Given the description of an element on the screen output the (x, y) to click on. 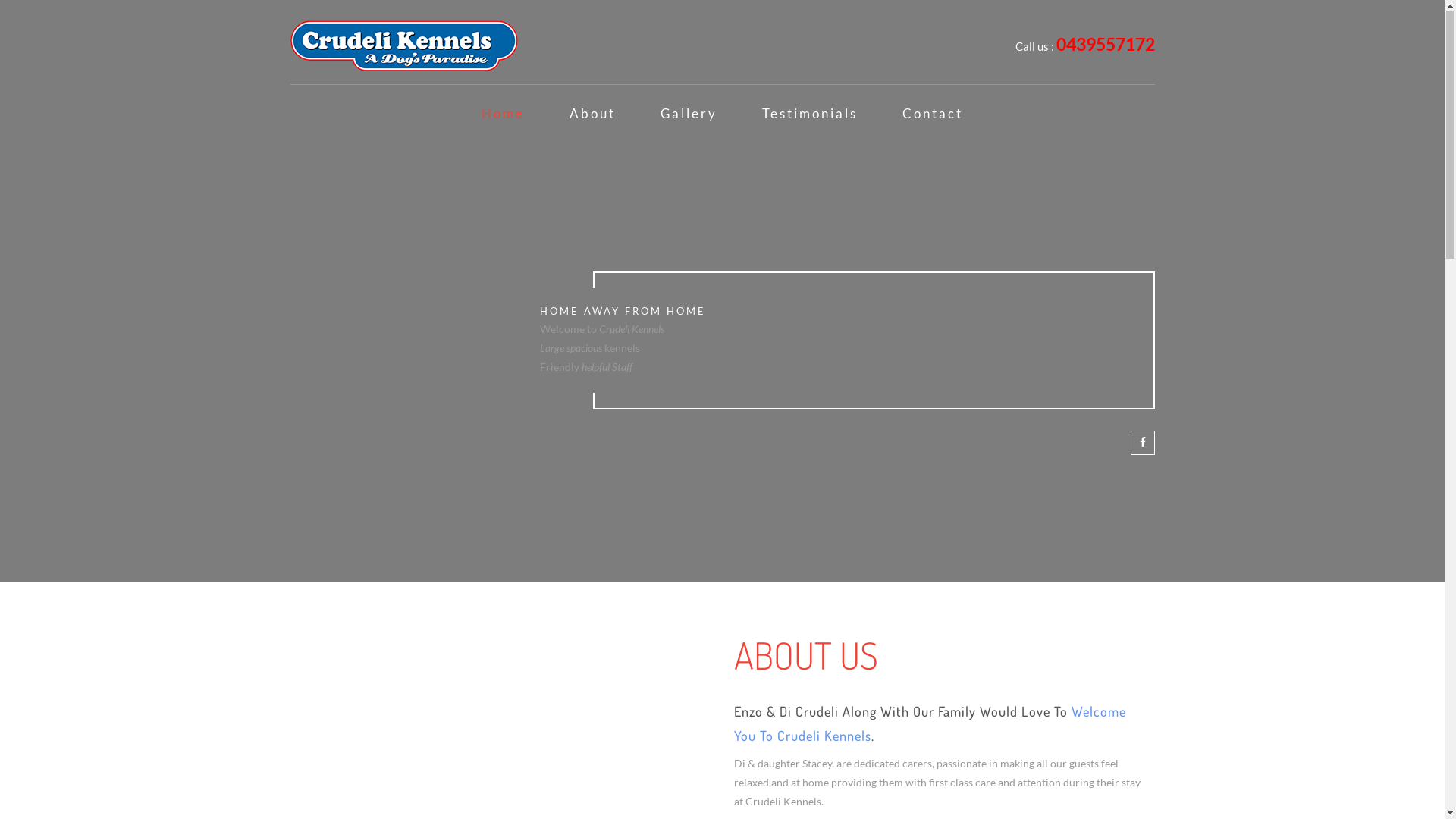
About Element type: text (592, 114)
Home Element type: text (502, 114)
Testimonials Element type: text (809, 114)
Gallery Element type: text (688, 114)
Contact Element type: text (932, 114)
